Given the description of an element on the screen output the (x, y) to click on. 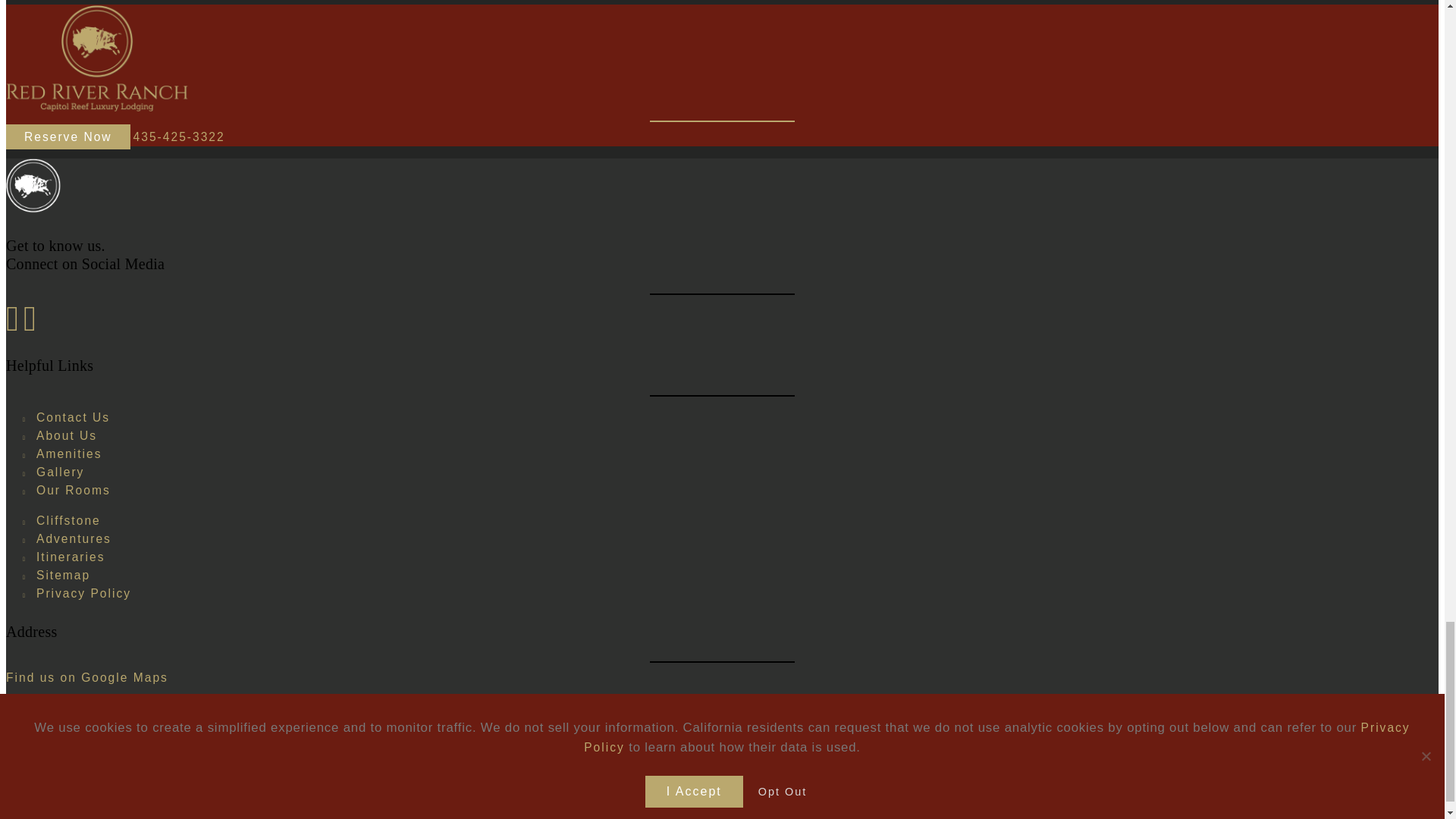
Amenities (68, 453)
Reserve Now (68, 136)
Gallery (60, 472)
Our Rooms (73, 490)
About Us (66, 435)
435-425-3322 (179, 136)
Contact Us (73, 417)
